Given the description of an element on the screen output the (x, y) to click on. 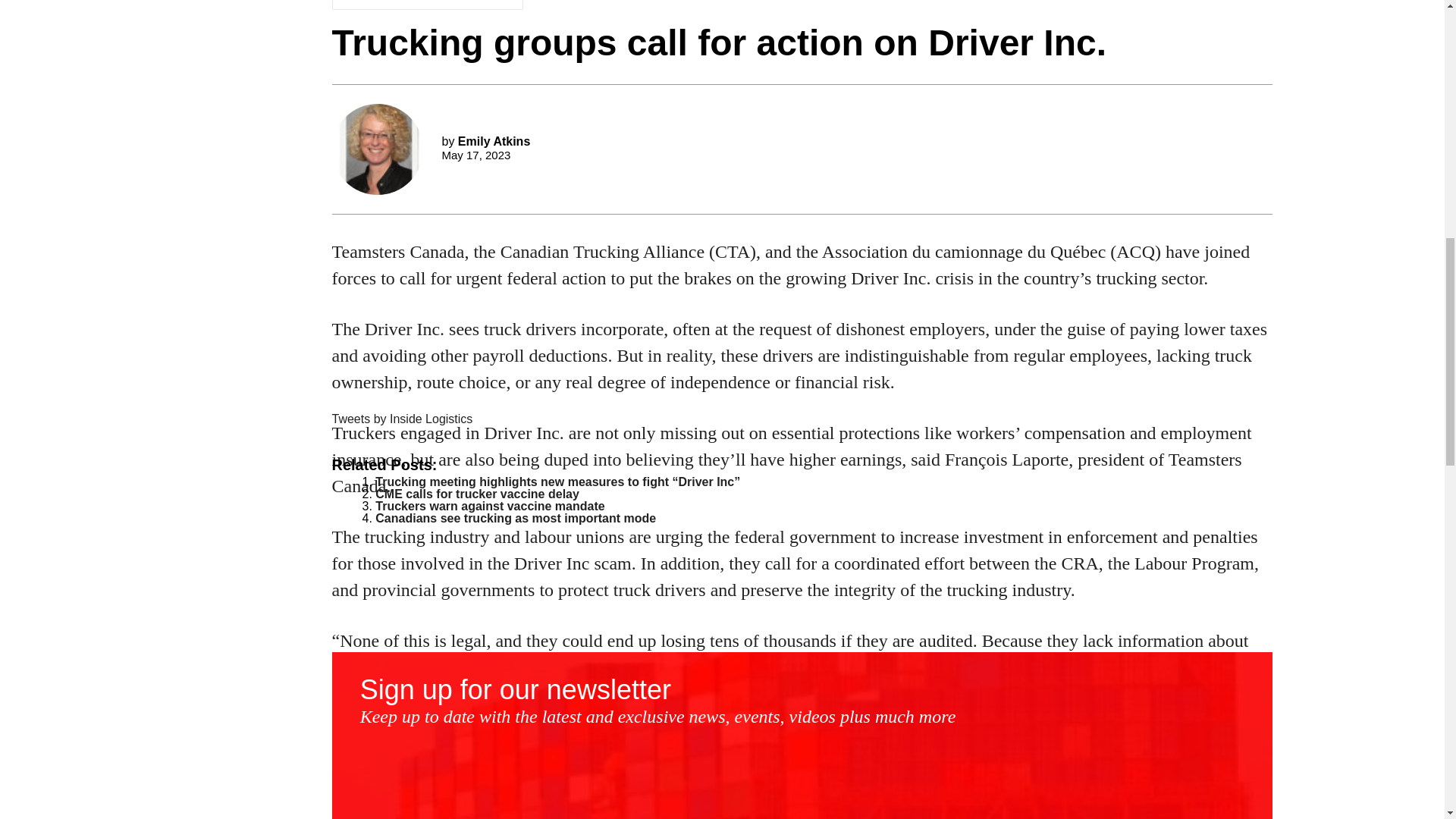
Canadians see trucking as most important mode (515, 517)
3rd party ad content (801, 286)
3rd party ad content (801, 79)
CME calls for trucker vaccine delay (477, 493)
Tweets by Inside Logistics (402, 418)
Print page. (502, 4)
Truckers warn against vaccine mandate (489, 505)
Truckers warn against vaccine mandate (489, 505)
CME calls for trucker vaccine delay (477, 493)
Canadians see trucking as most important mode (515, 517)
